Given the description of an element on the screen output the (x, y) to click on. 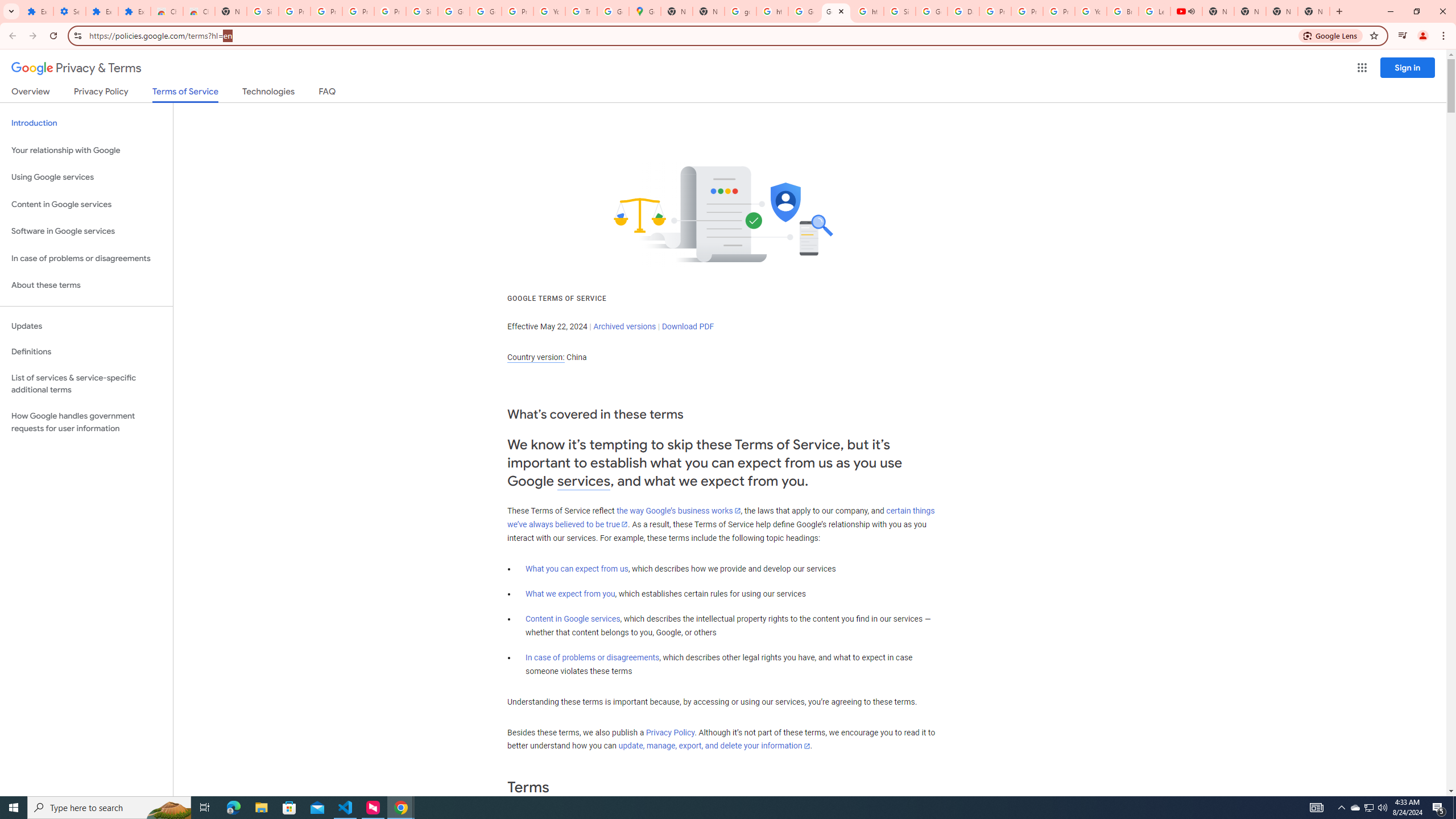
What we expect from you (570, 593)
Country version: (535, 357)
Using Google services (86, 176)
Privacy Help Center - Policies Help (995, 11)
Google Maps (644, 11)
Settings (69, 11)
https://scholar.google.com/ (868, 11)
New Tab (230, 11)
